Given the description of an element on the screen output the (x, y) to click on. 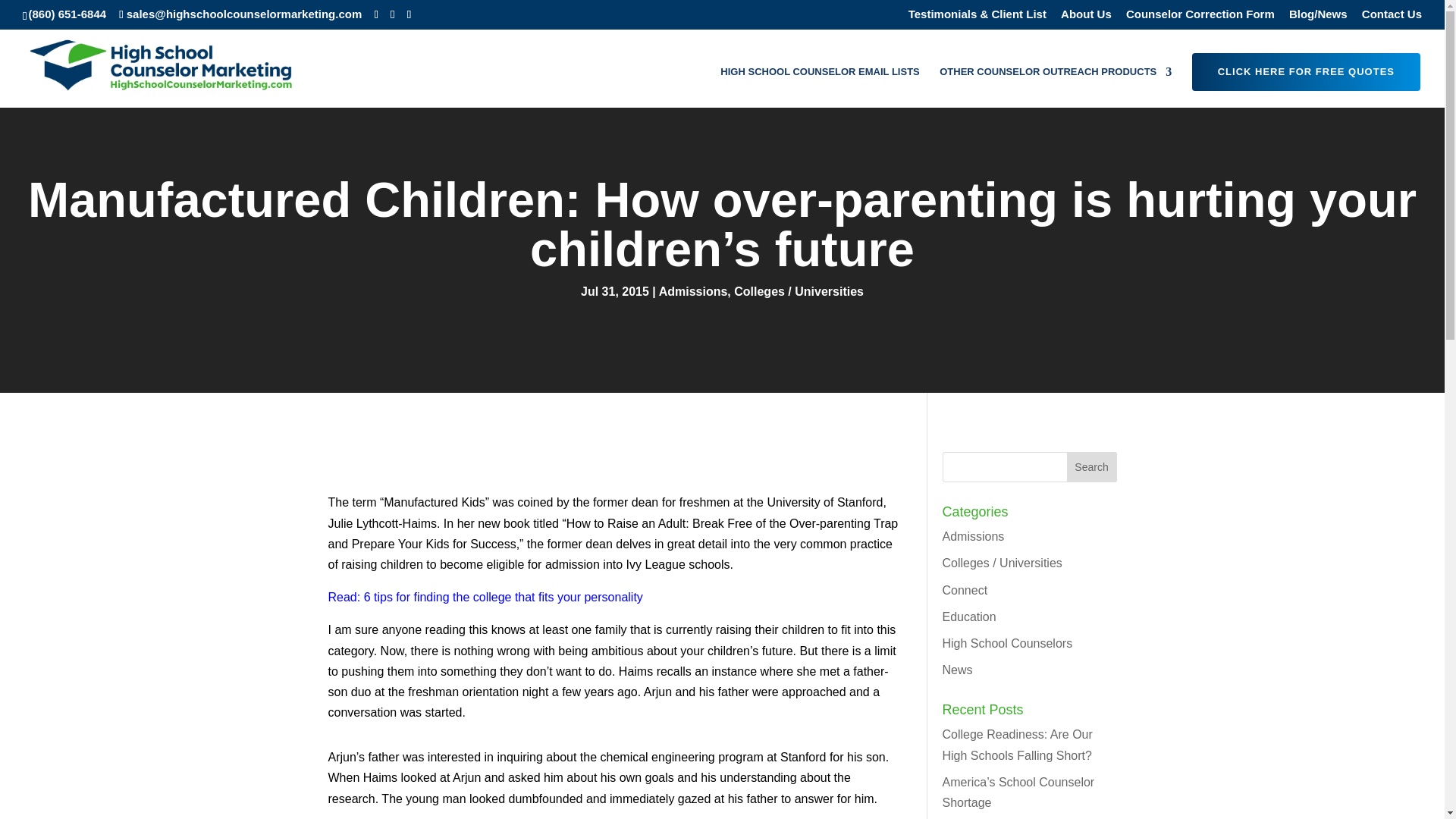
CLICK HERE FOR FREE QUOTES (1305, 71)
About Us (1086, 17)
Search (1091, 467)
HIGH SCHOOL COUNSELOR EMAIL LISTS (819, 86)
Counselor Correction Form (1200, 17)
Admissions (693, 291)
Contact Us (1391, 17)
OTHER COUNSELOR OUTREACH PRODUCTS (1055, 86)
Search (1091, 467)
